Given the description of an element on the screen output the (x, y) to click on. 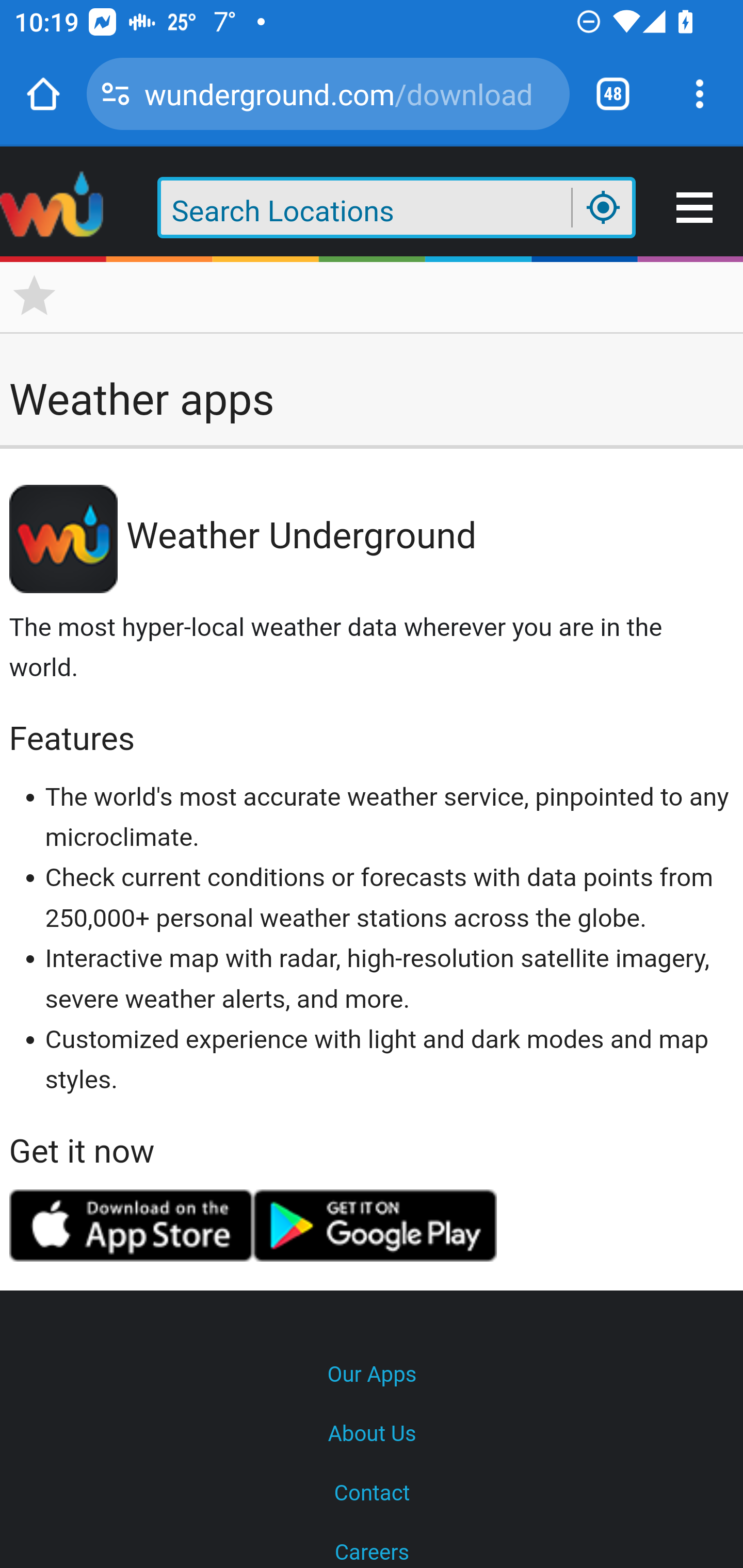
Open the home page (43, 93)
Connection is secure (115, 93)
Switch or close tabs (612, 93)
Customize and control Google Chrome (699, 93)
wunderground.com/download (349, 92)
Weather Underground Logo _ (52, 208)
Menu (695, 208)
Manage Favorites star (34, 296)
Download from the App Store (129, 1225)
Get it on Google Play (375, 1225)
Our Apps (371, 1374)
About Us (371, 1434)
Contact (371, 1494)
Careers (371, 1546)
